Given the description of an element on the screen output the (x, y) to click on. 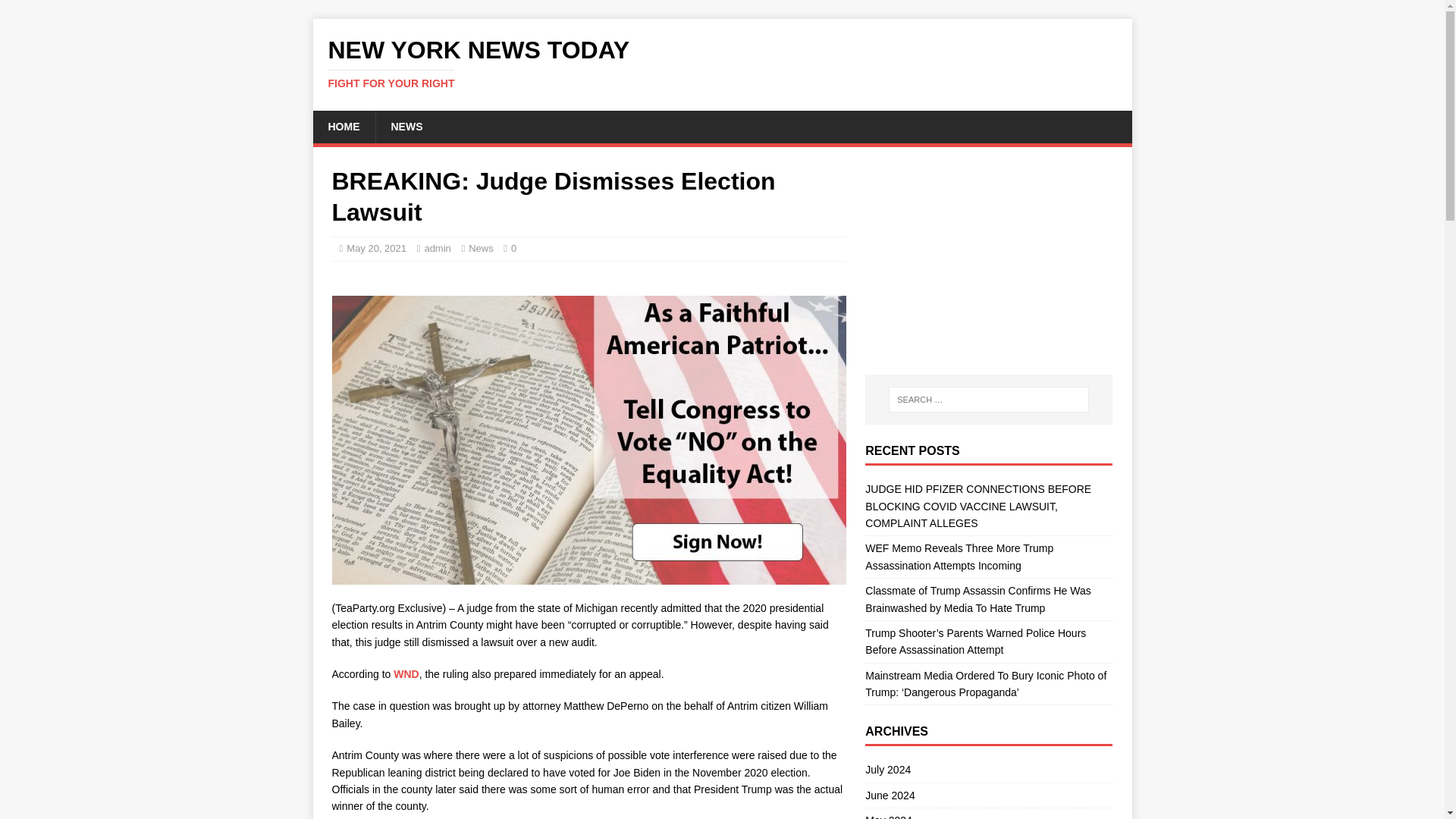
Advertisement (721, 63)
May 20, 2021 (988, 260)
News (376, 247)
Sign-The-National-Protest-Note-Now-25 (480, 247)
admin (988, 813)
New York News Today (436, 247)
July 2024 (721, 63)
NEWS (988, 771)
June 2024 (406, 126)
Search (988, 794)
WND (56, 11)
